Given the description of an element on the screen output the (x, y) to click on. 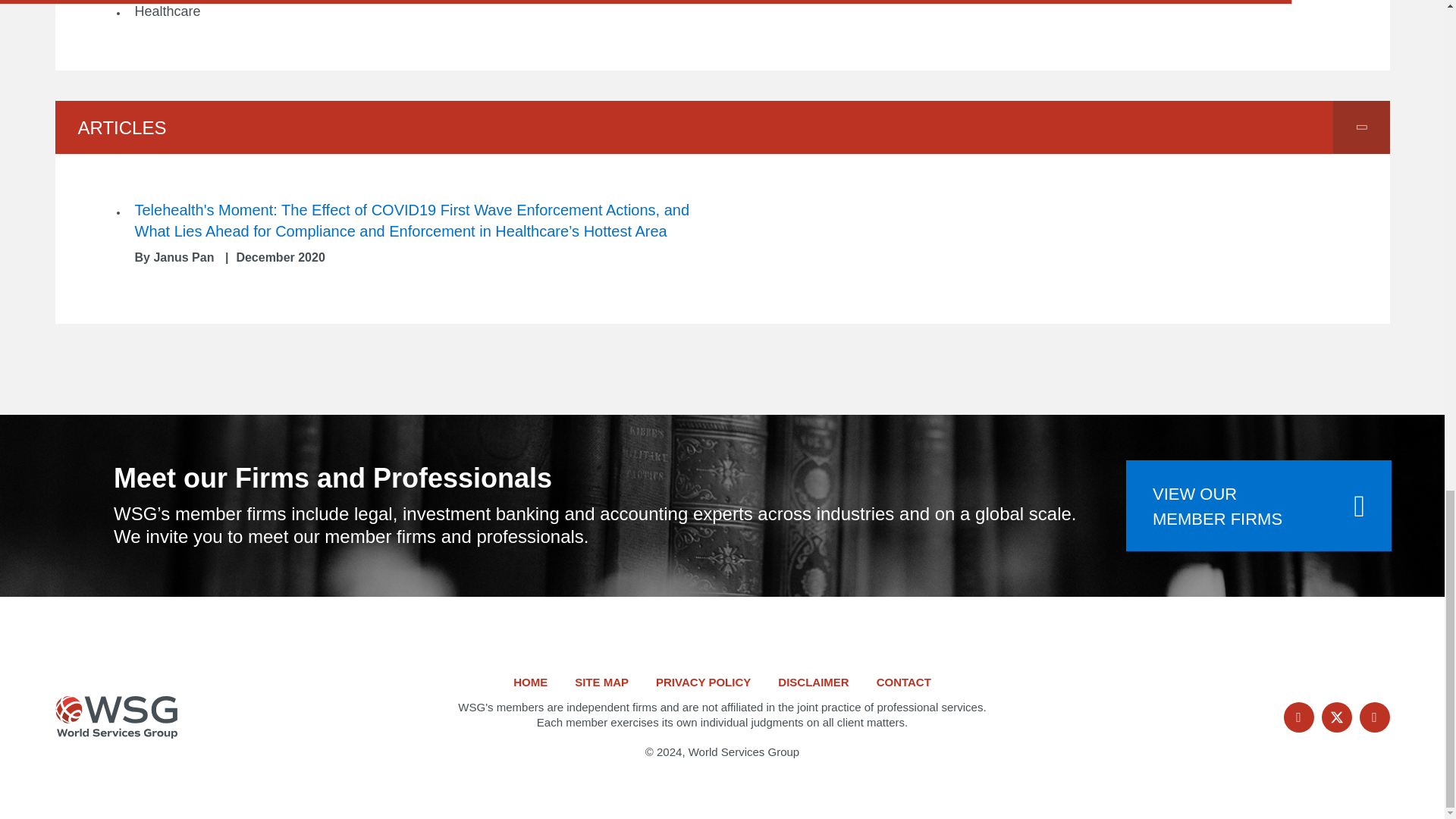
Janus Pan (183, 256)
Linkedin (1373, 716)
SITE MAP (1258, 505)
PRIVACY POLICY (601, 682)
Twitter (703, 682)
Facebook (1335, 716)
HOME (1297, 716)
CONTACT (530, 682)
DISCLAIMER (903, 682)
